Given the description of an element on the screen output the (x, y) to click on. 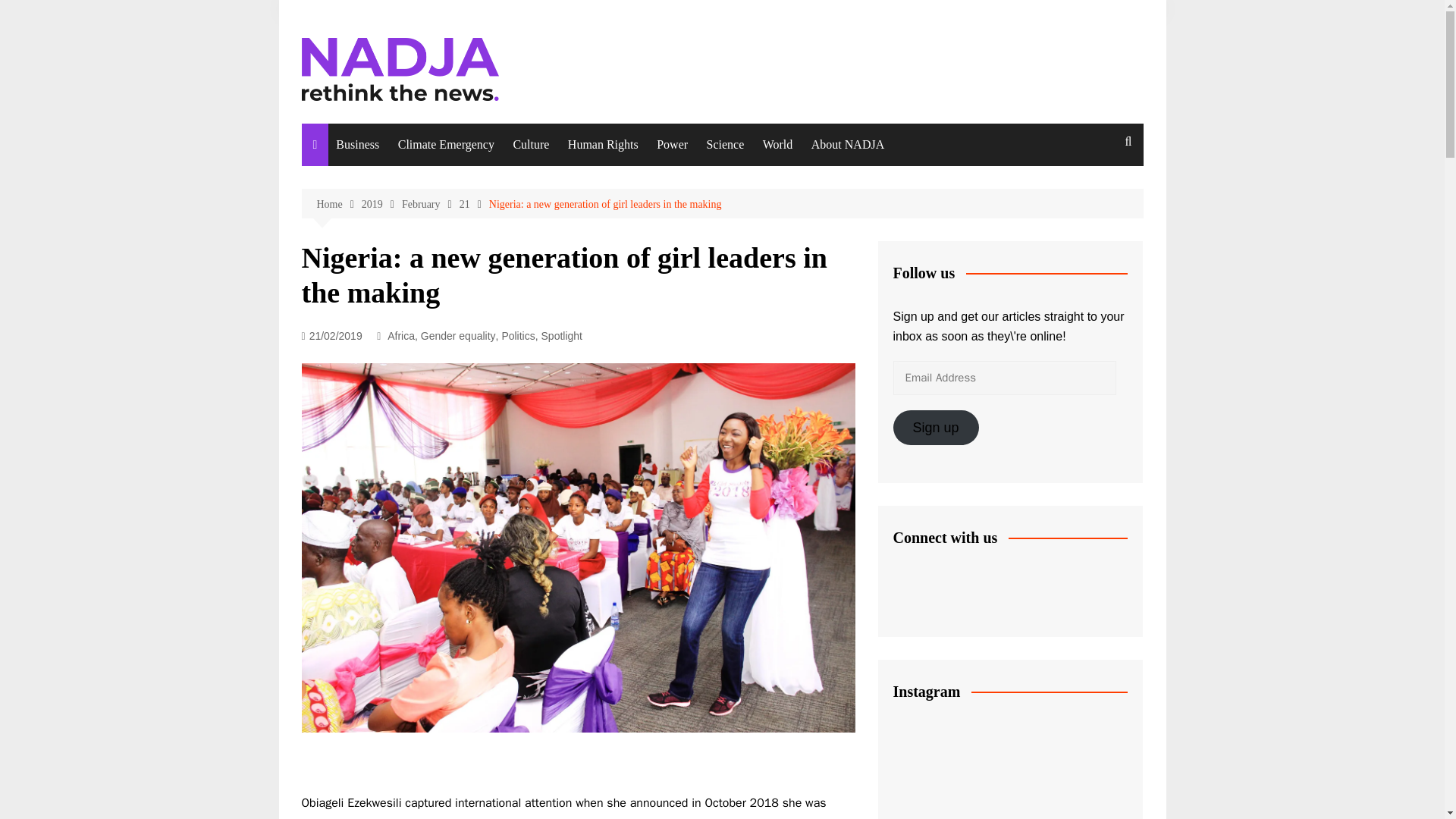
Science (725, 144)
Power (672, 144)
Business (358, 144)
Media (588, 276)
Australia (838, 245)
Culture (530, 144)
Disability rights (643, 213)
Contact us (887, 264)
Our story (887, 182)
Middle East (838, 339)
